Given the description of an element on the screen output the (x, y) to click on. 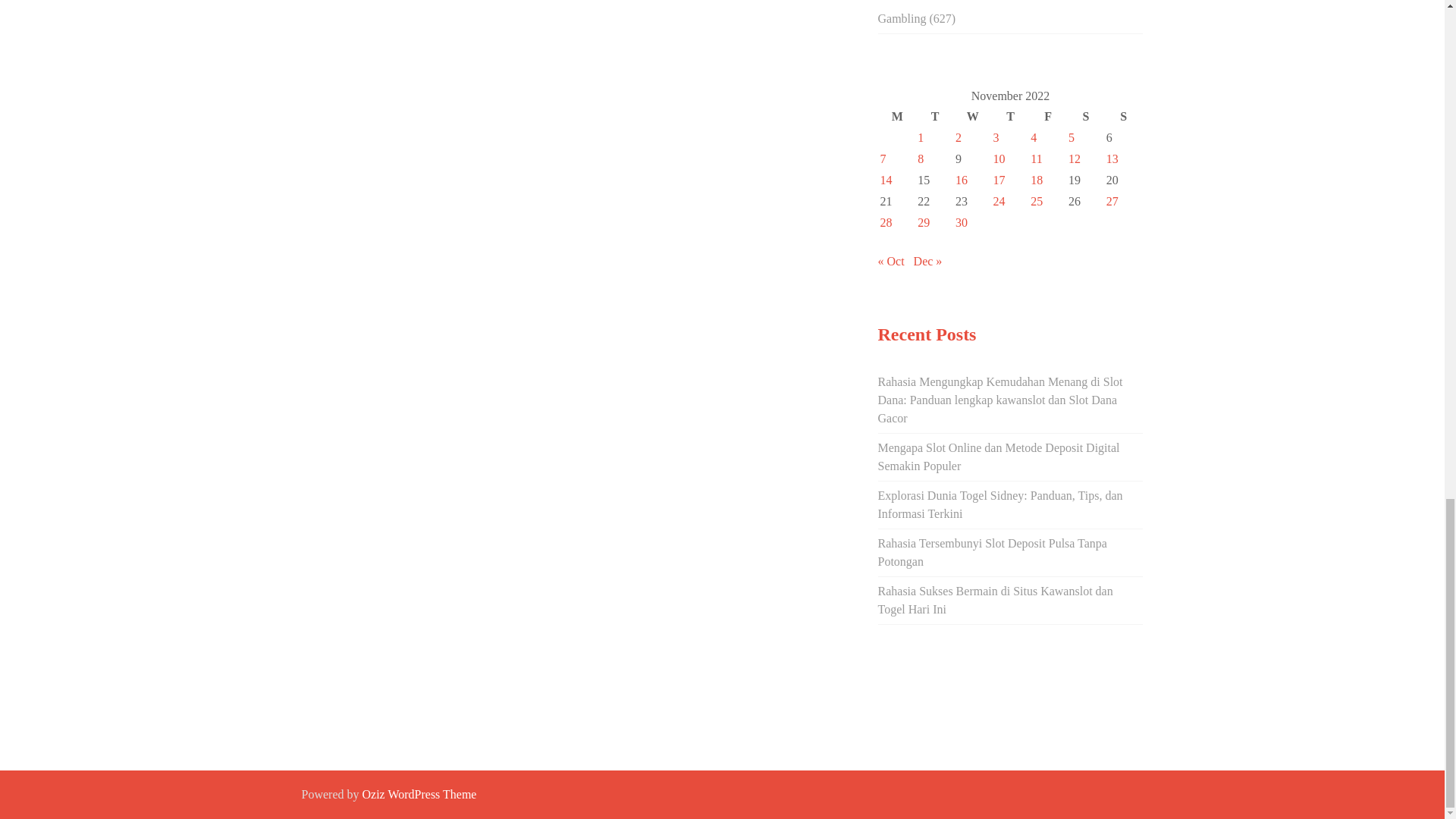
Sunday (1123, 116)
Wednesday (973, 116)
Thursday (1010, 116)
Friday (1047, 116)
Tuesday (935, 116)
Monday (897, 116)
Gambling (901, 18)
Saturday (1085, 116)
